Given the description of an element on the screen output the (x, y) to click on. 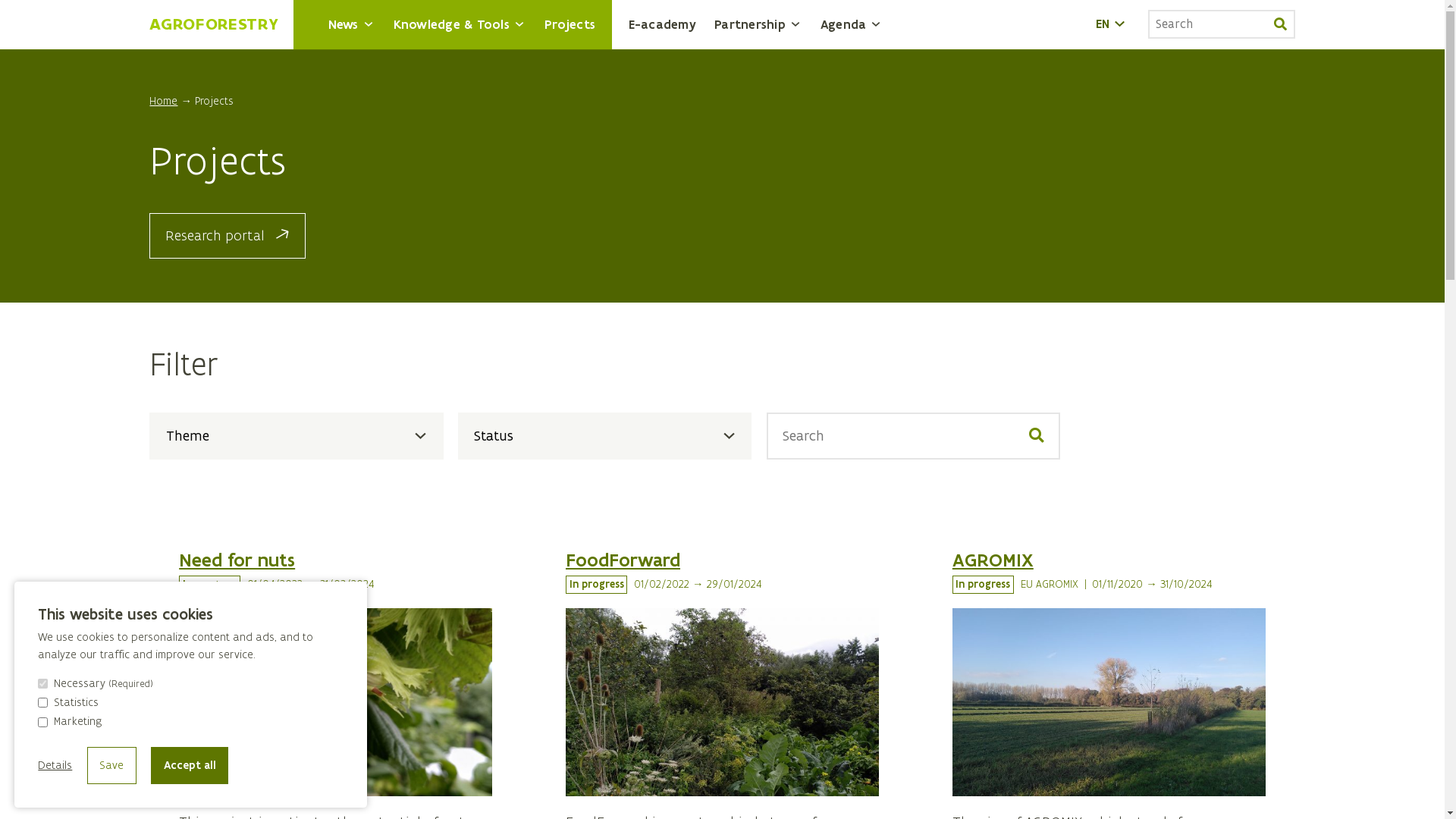
Need for nuts Element type: text (236, 559)
Details Element type: text (54, 765)
AGROFORESTRY Element type: text (213, 24)
Save Element type: text (111, 764)
AGROMIX Element type: text (992, 559)
Search Element type: text (1280, 24)
Knowledge & Tools Element type: text (459, 24)
E-academy Element type: text (662, 23)
EN Element type: text (1110, 23)
FoodForward Element type: text (622, 559)
News Element type: text (351, 24)
Accept all Element type: text (189, 764)
Home Element type: text (163, 100)
Projects Element type: text (569, 23)
Agenda Element type: text (851, 24)
Partnership Element type: text (758, 24)
Projects Element type: text (213, 100)
Research portal Element type: text (227, 235)
